Given the description of an element on the screen output the (x, y) to click on. 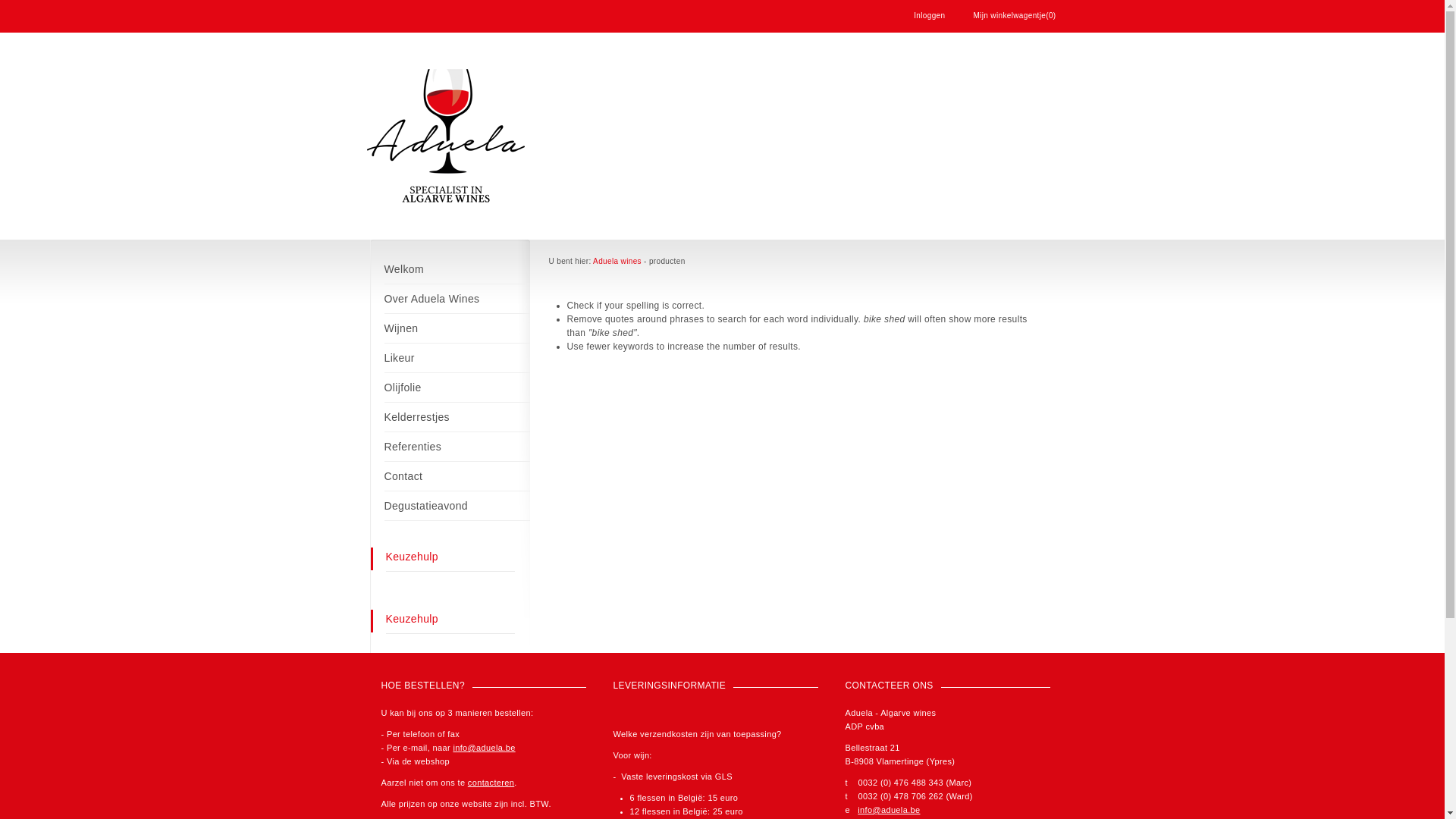
Kelderrestjes Element type: text (456, 417)
Degustatieavond Element type: text (456, 505)
Contact Element type: text (456, 476)
Inloggen Element type: text (928, 15)
Mijn winkelwagentje(0) Element type: text (1013, 15)
info@aduela.be Element type: text (888, 809)
Overslaan en naar de inhoud gaan Element type: text (74, 0)
contacteren Element type: text (490, 782)
Aduela wines Element type: text (617, 261)
info@aduela.be Element type: text (483, 747)
Welkom Element type: text (456, 269)
Home Element type: hover (446, 137)
Over Aduela Wines Element type: text (456, 298)
